Given the description of an element on the screen output the (x, y) to click on. 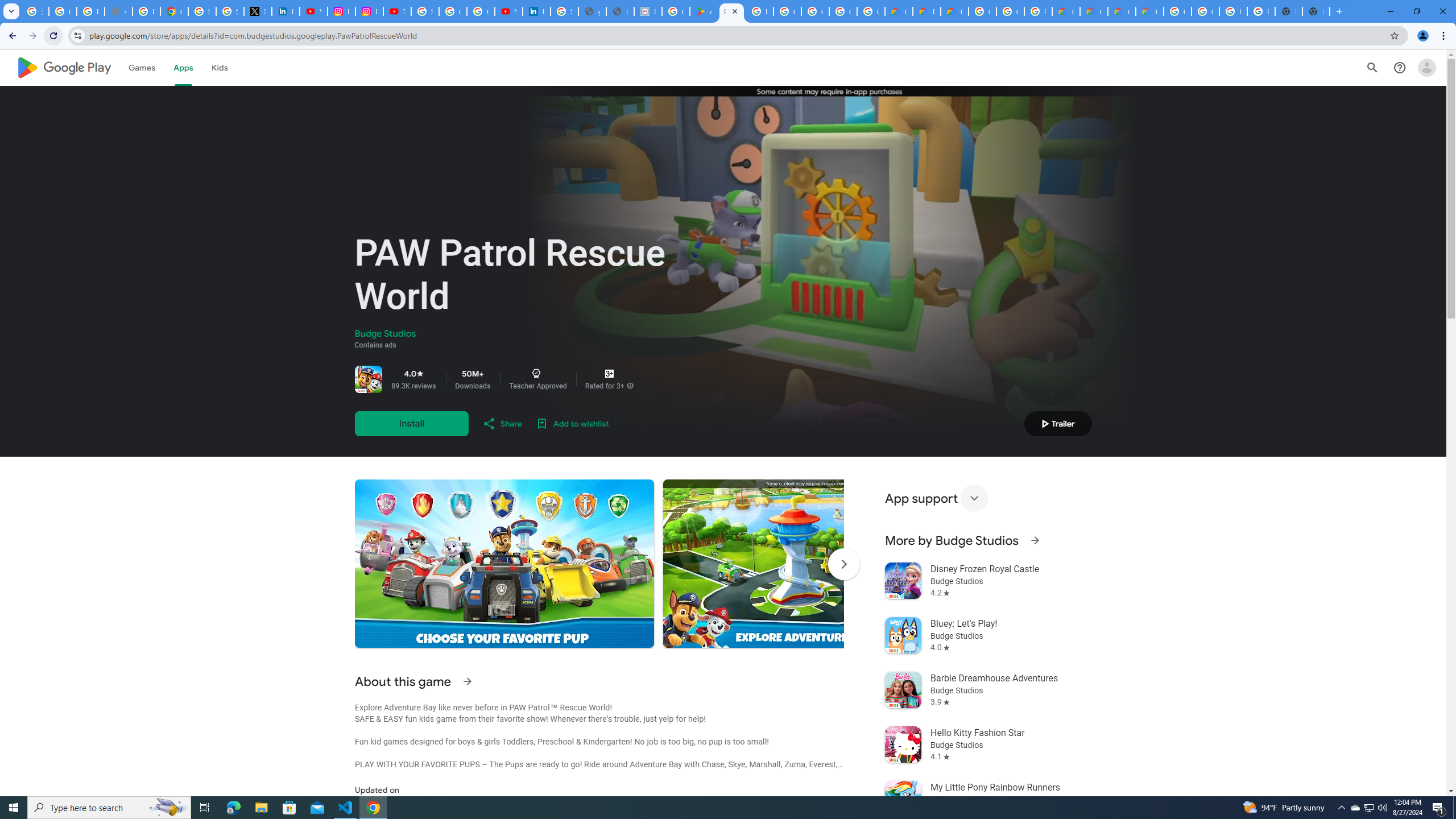
Google Cloud Platform (1205, 11)
Customer Care | Google Cloud (1065, 11)
Open account menu (1426, 67)
Gemini for Business and Developers | Google Cloud (955, 11)
Google Cloud Platform (1010, 11)
Data Privacy Framework (647, 11)
Sign in - Google Accounts (202, 11)
YouTube Content Monetization Policies - How YouTube Works (313, 11)
Apps (182, 67)
Google Play logo (64, 67)
